Given the description of an element on the screen output the (x, y) to click on. 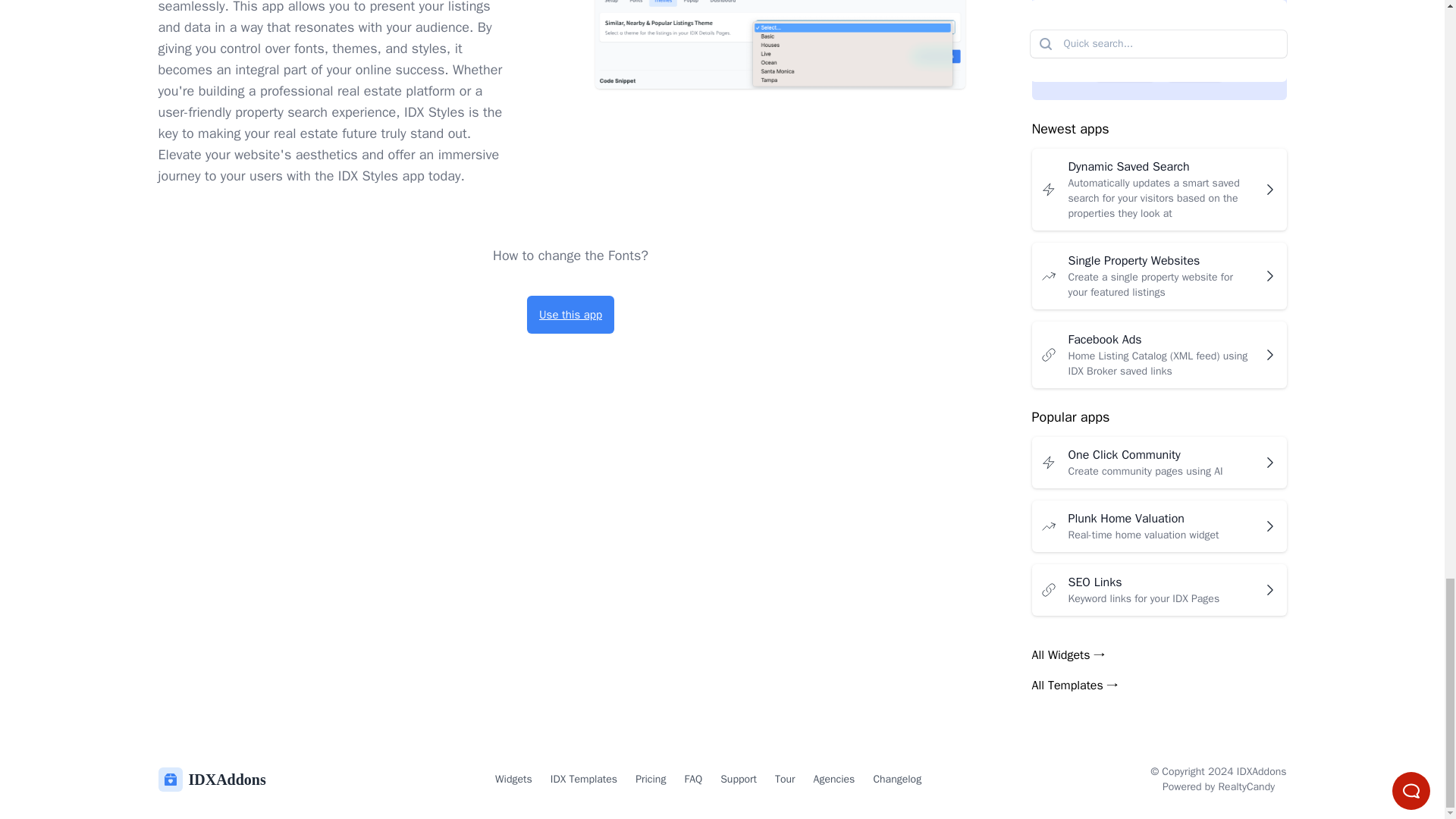
Support (738, 779)
FAQ (692, 779)
Widgets (513, 779)
IDX Templates (583, 779)
Changelog (896, 779)
IDXAddons (210, 779)
Pricing (649, 779)
Use this app (570, 314)
Agencies (834, 779)
Tour (784, 779)
Themes (780, 44)
